Given the description of an element on the screen output the (x, y) to click on. 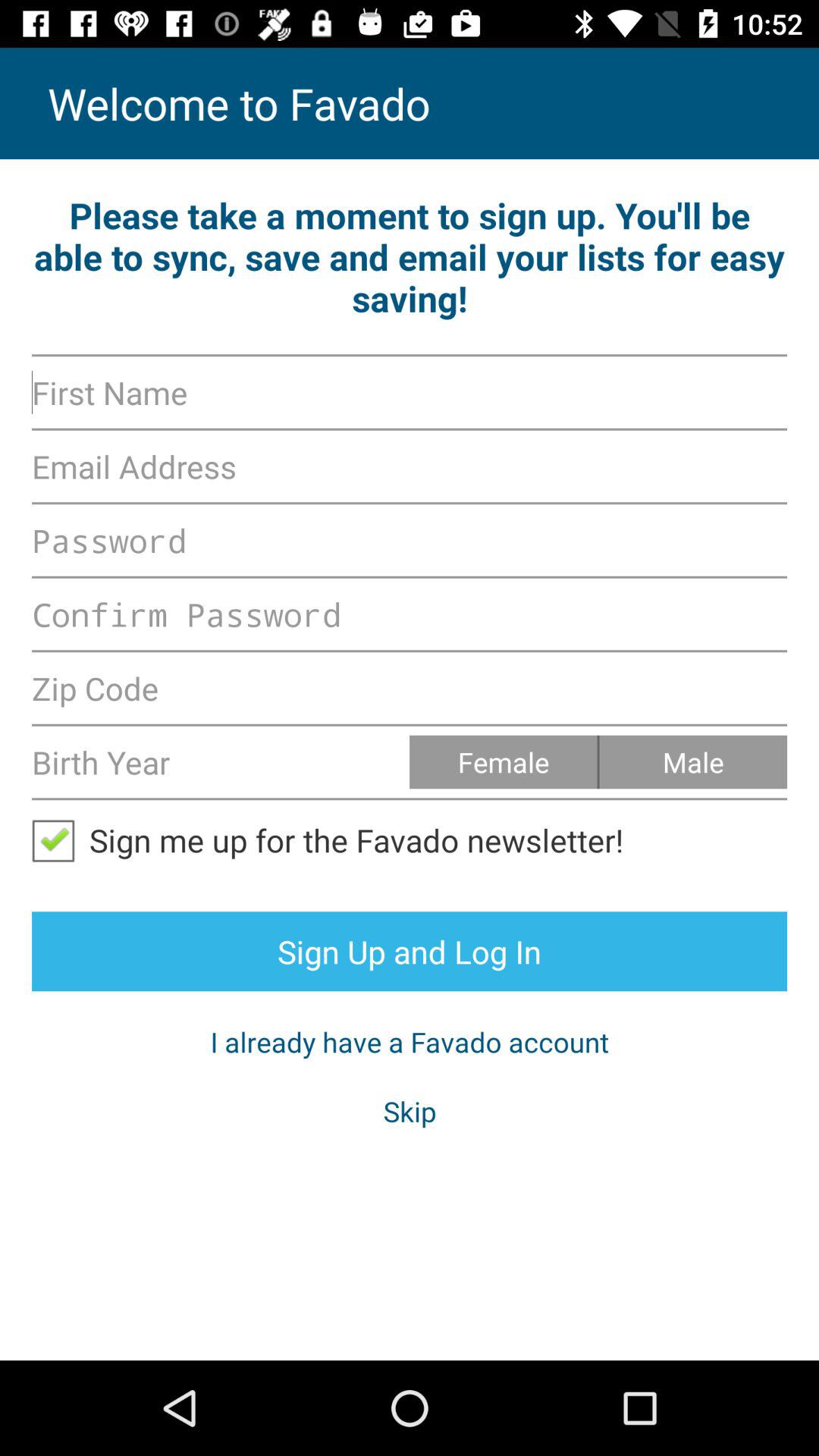
type password (409, 614)
